Given the description of an element on the screen output the (x, y) to click on. 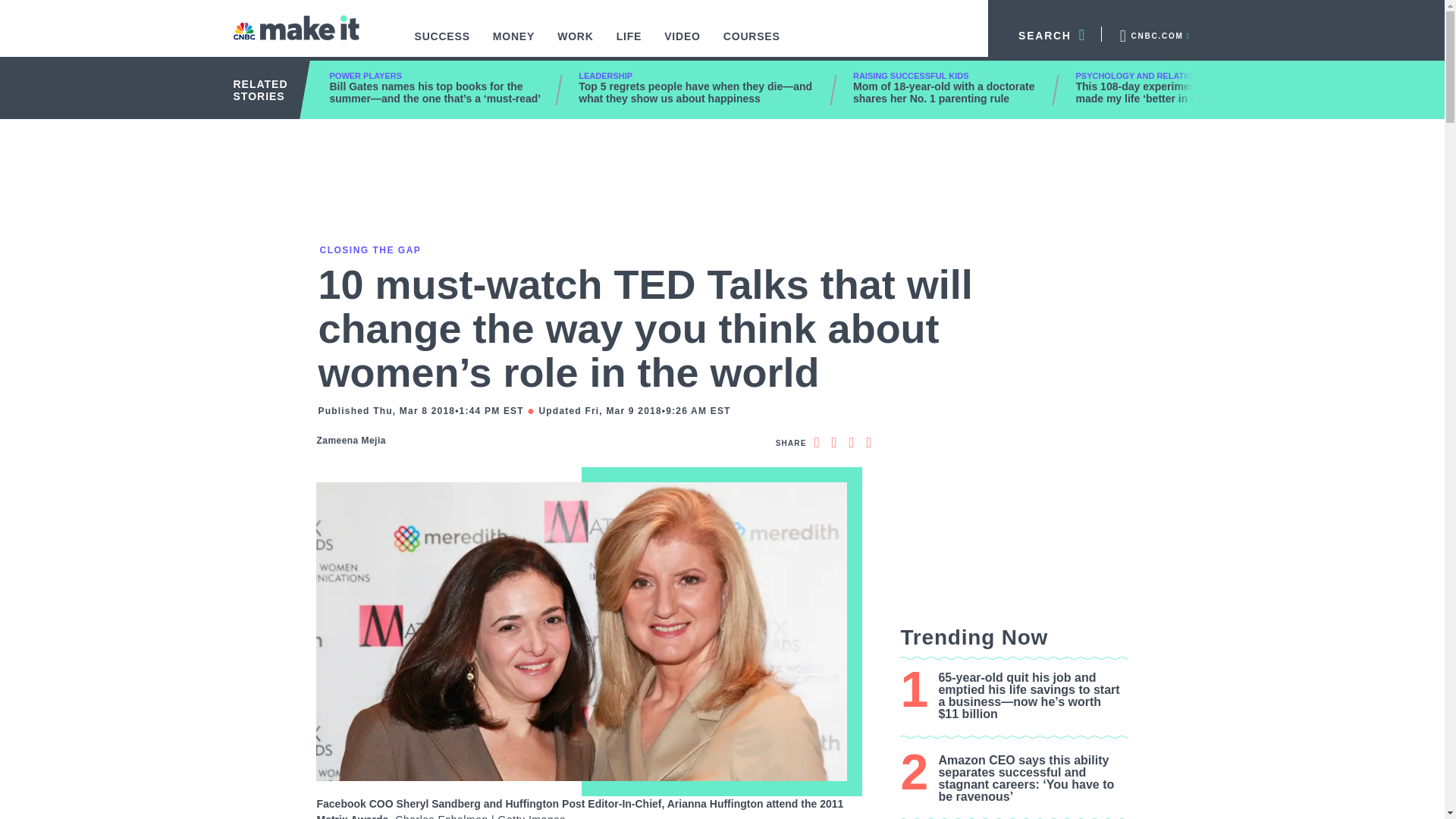
COURSES (751, 44)
WORK (575, 44)
CNBC.COM (1153, 33)
SEARCH (1045, 33)
MONEY (513, 44)
VIDEO (681, 44)
LIFE (629, 44)
SUCCESS (442, 44)
